Given the description of an element on the screen output the (x, y) to click on. 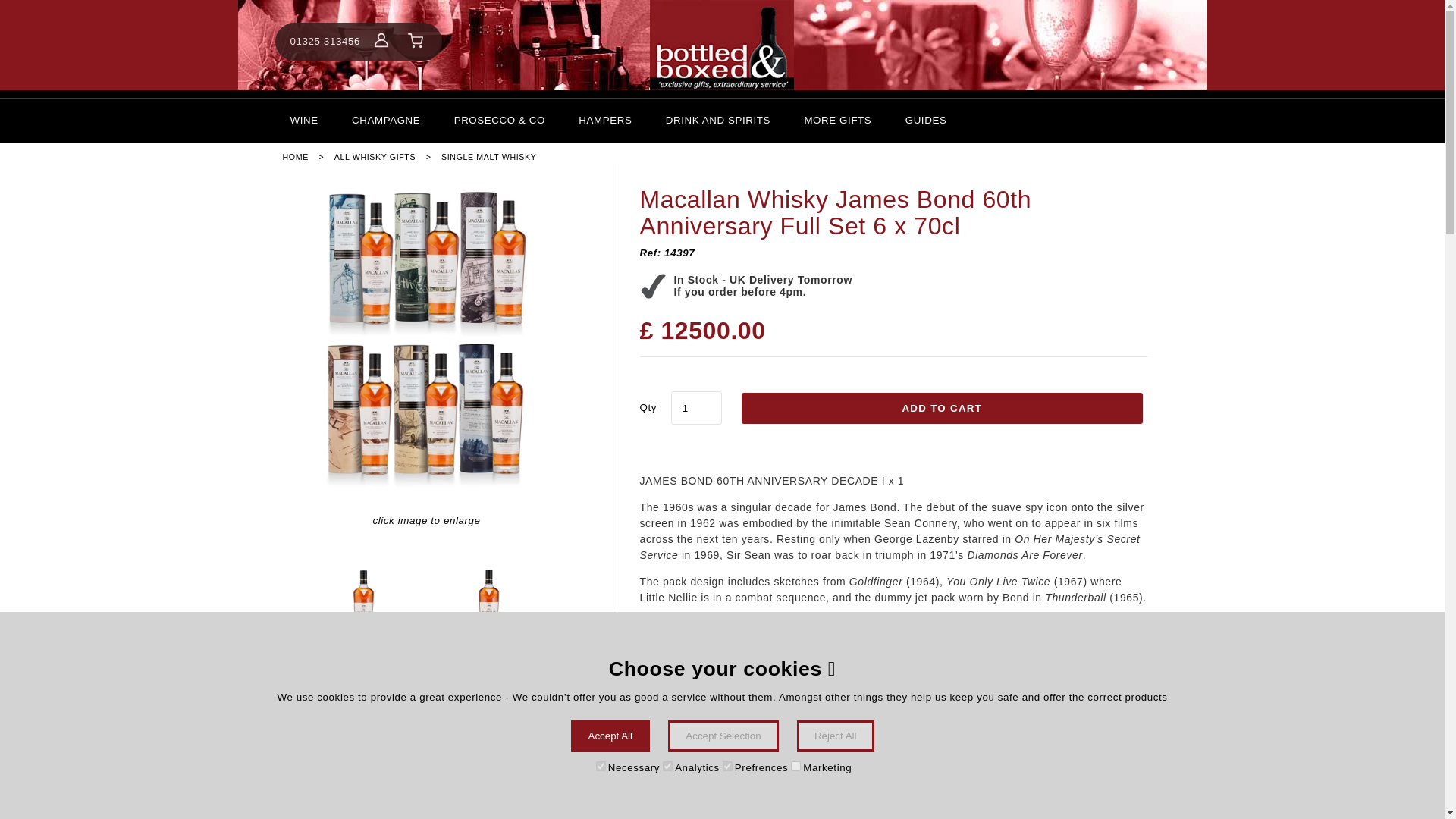
Home (721, 45)
1 (696, 408)
Necessary (600, 766)
Accout button (380, 41)
WINE (304, 120)
View Basket (415, 41)
Prefrences (727, 766)
Basket button (415, 41)
Basket button (415, 40)
Analytics (667, 766)
